Given the description of an element on the screen output the (x, y) to click on. 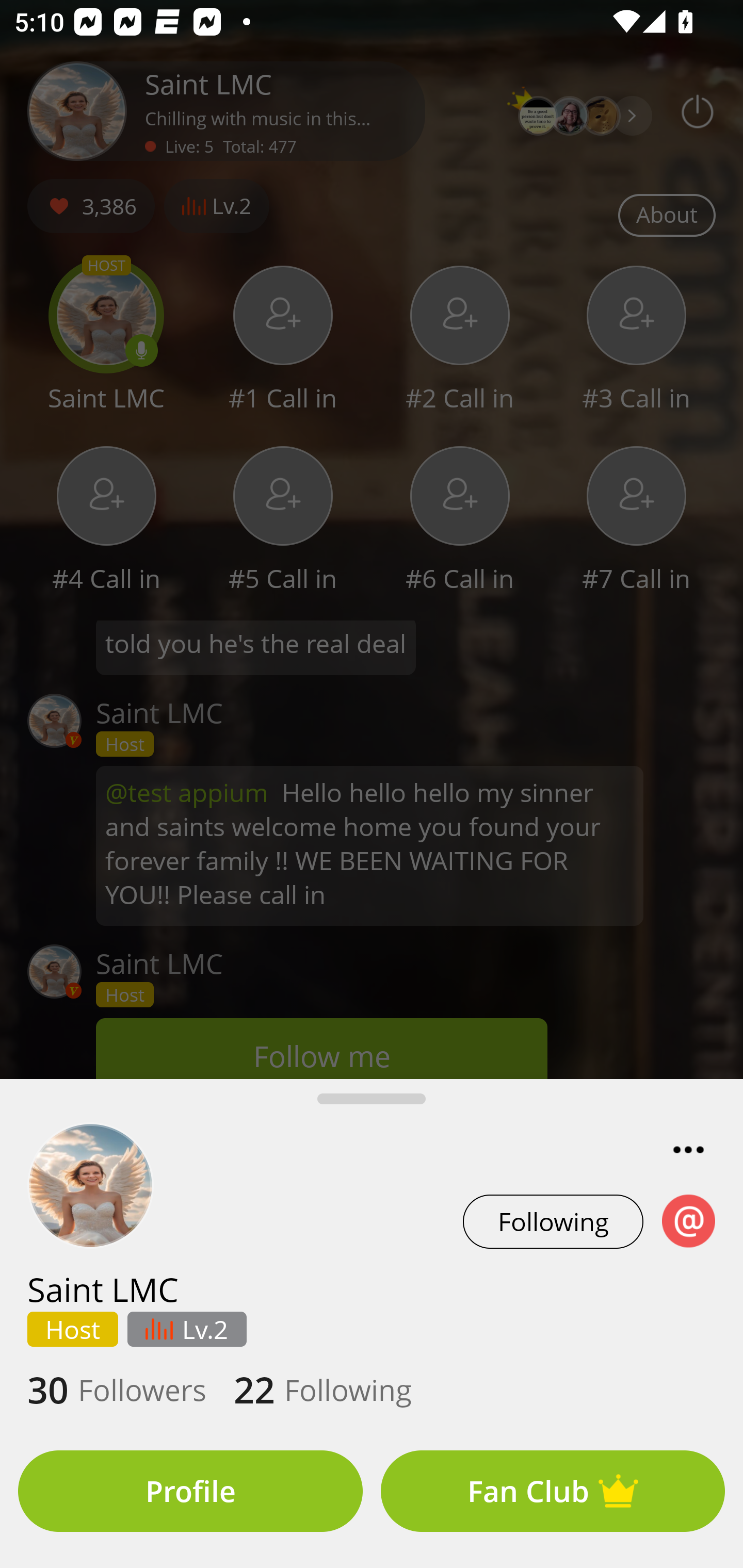
Following (552, 1221)
Profile (189, 1490)
Fan Club (552, 1490)
